Given the description of an element on the screen output the (x, y) to click on. 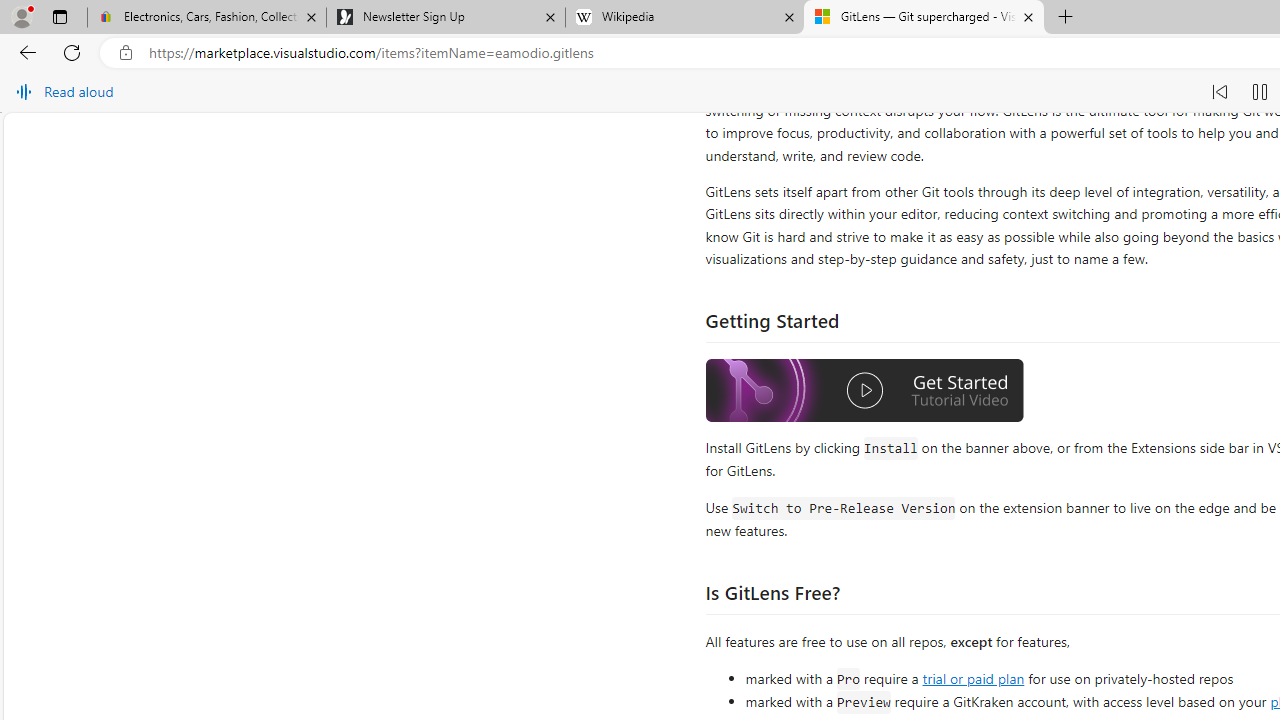
Read previous paragraph (1220, 92)
GitLens (728, 378)
Rating & Review (1084, 204)
Version History (862, 204)
Install (907, 131)
Q & A (971, 204)
Pause read aloud (Ctrl+Shift+U) (1260, 92)
